Given the description of an element on the screen output the (x, y) to click on. 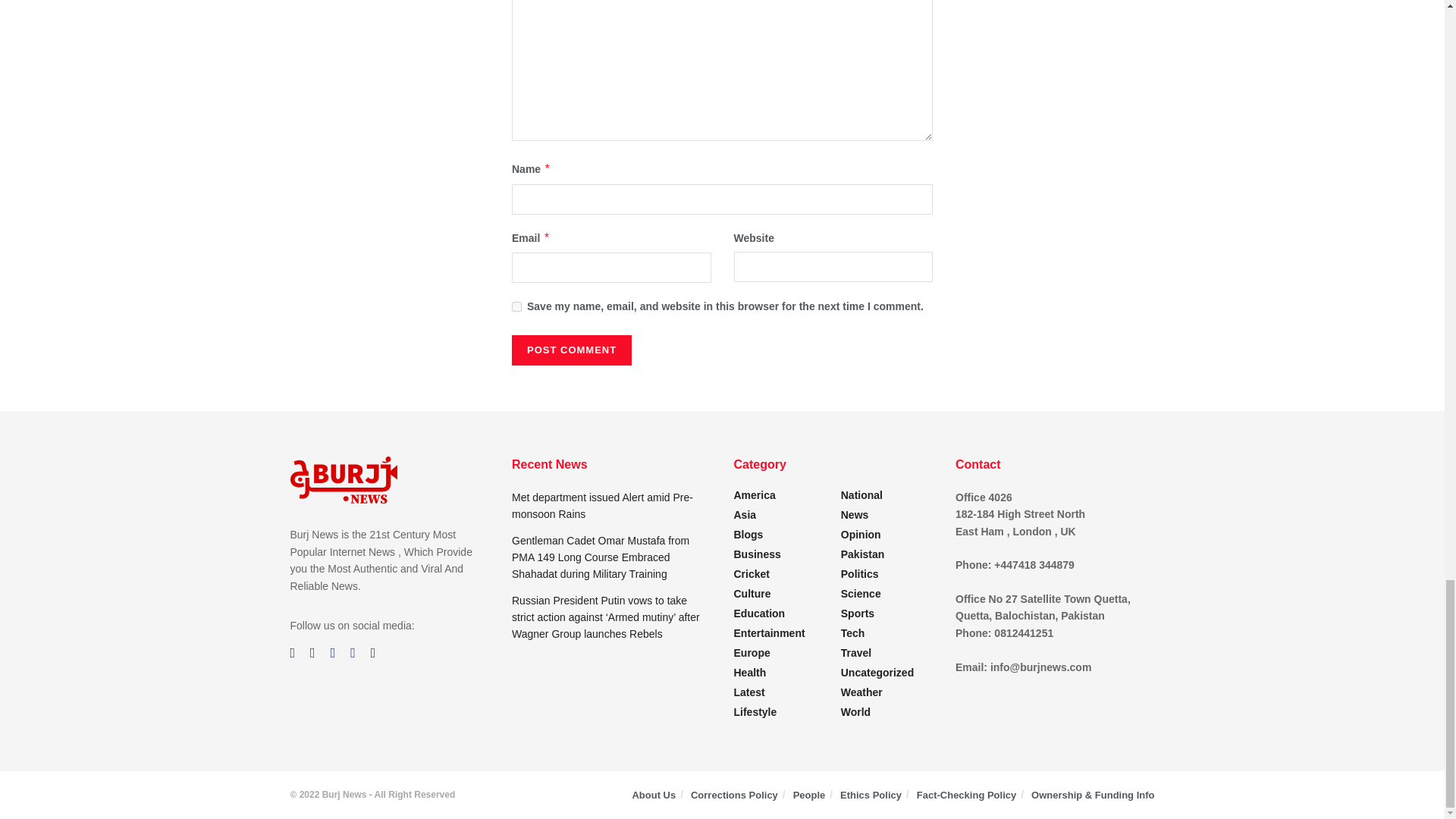
yes (516, 307)
Post Comment (571, 349)
